Given the description of an element on the screen output the (x, y) to click on. 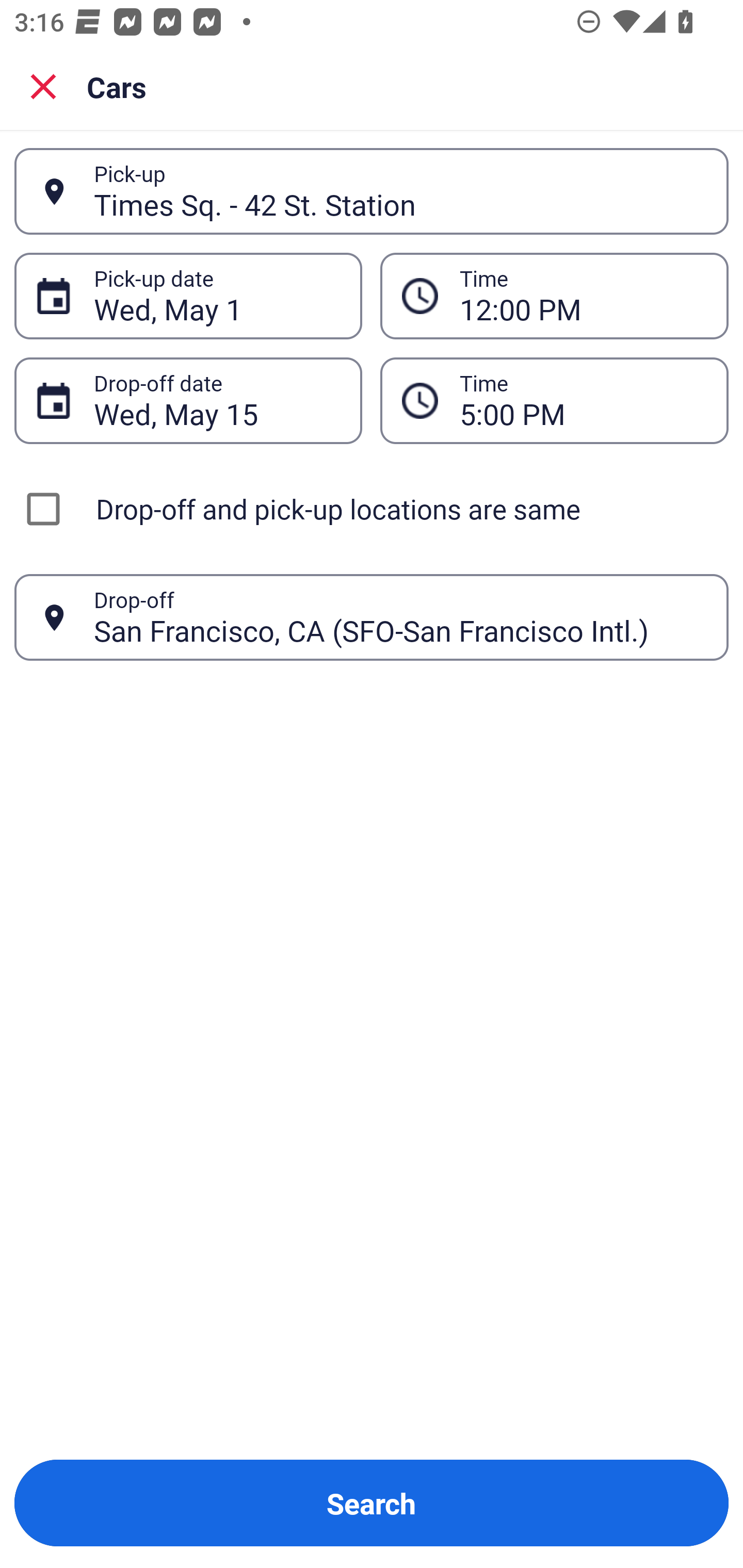
Close search screen (43, 86)
Times Sq. - 42 St. Station Pick-up (371, 191)
Times Sq. - 42 St. Station (399, 191)
Wed, May 1 Pick-up date (188, 295)
12:00 PM (554, 295)
Wed, May 1 (216, 296)
12:00 PM (582, 296)
Wed, May 15 Drop-off date (188, 400)
5:00 PM (554, 400)
Wed, May 15 (216, 400)
5:00 PM (582, 400)
Drop-off and pick-up locations are same (371, 508)
San Francisco, CA (SFO-San Francisco Intl.) (399, 616)
Search Button Search (371, 1502)
